Given the description of an element on the screen output the (x, y) to click on. 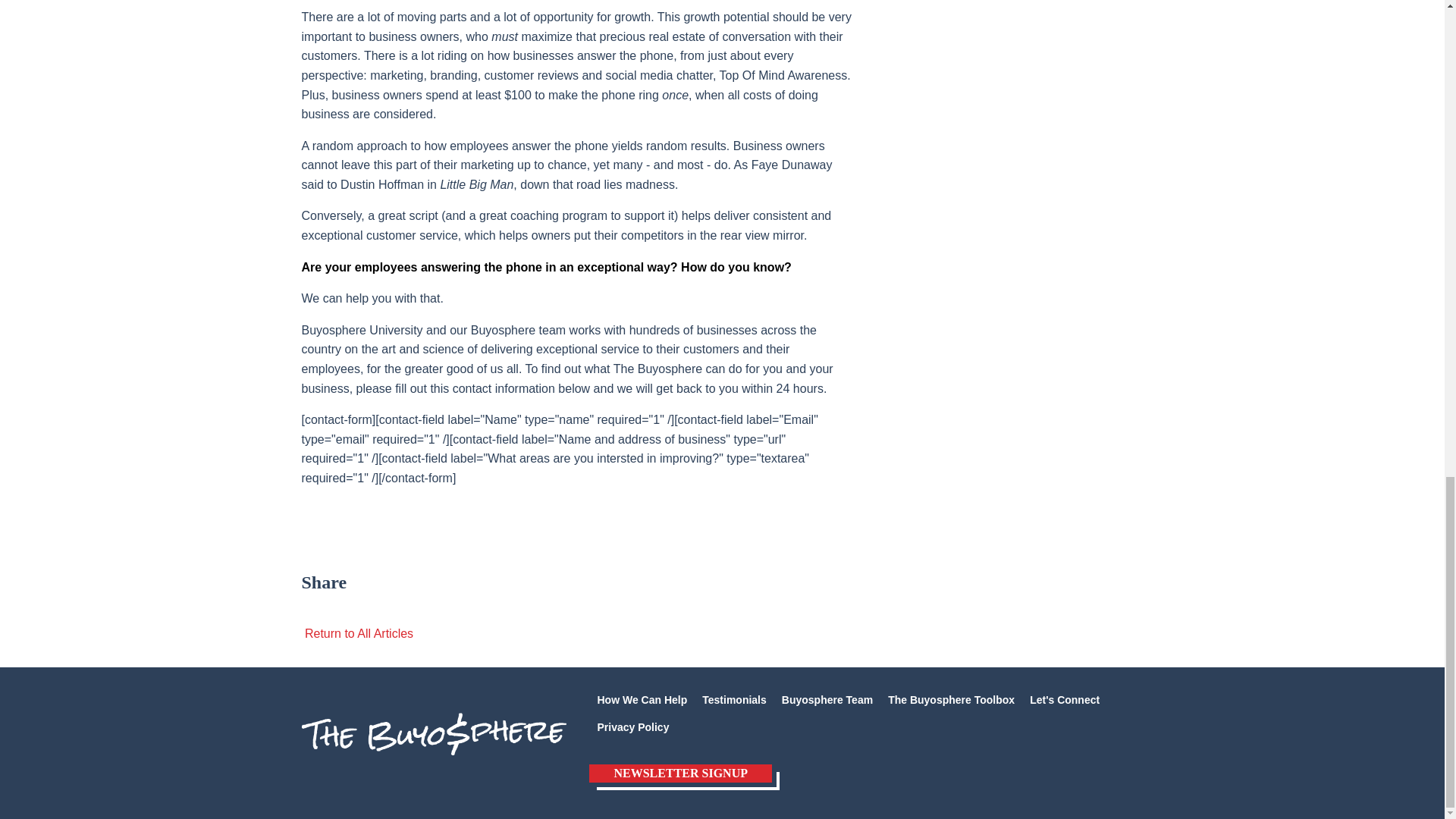
The Buyosphere Toolbox (951, 699)
NEWSLETTER SIGNUP (680, 773)
Testimonials (734, 699)
Privacy Policy (633, 727)
How We Can Help (641, 699)
Buyosphere Team (827, 699)
 Return to All Articles (357, 633)
Let's Connect (1064, 699)
